Given the description of an element on the screen output the (x, y) to click on. 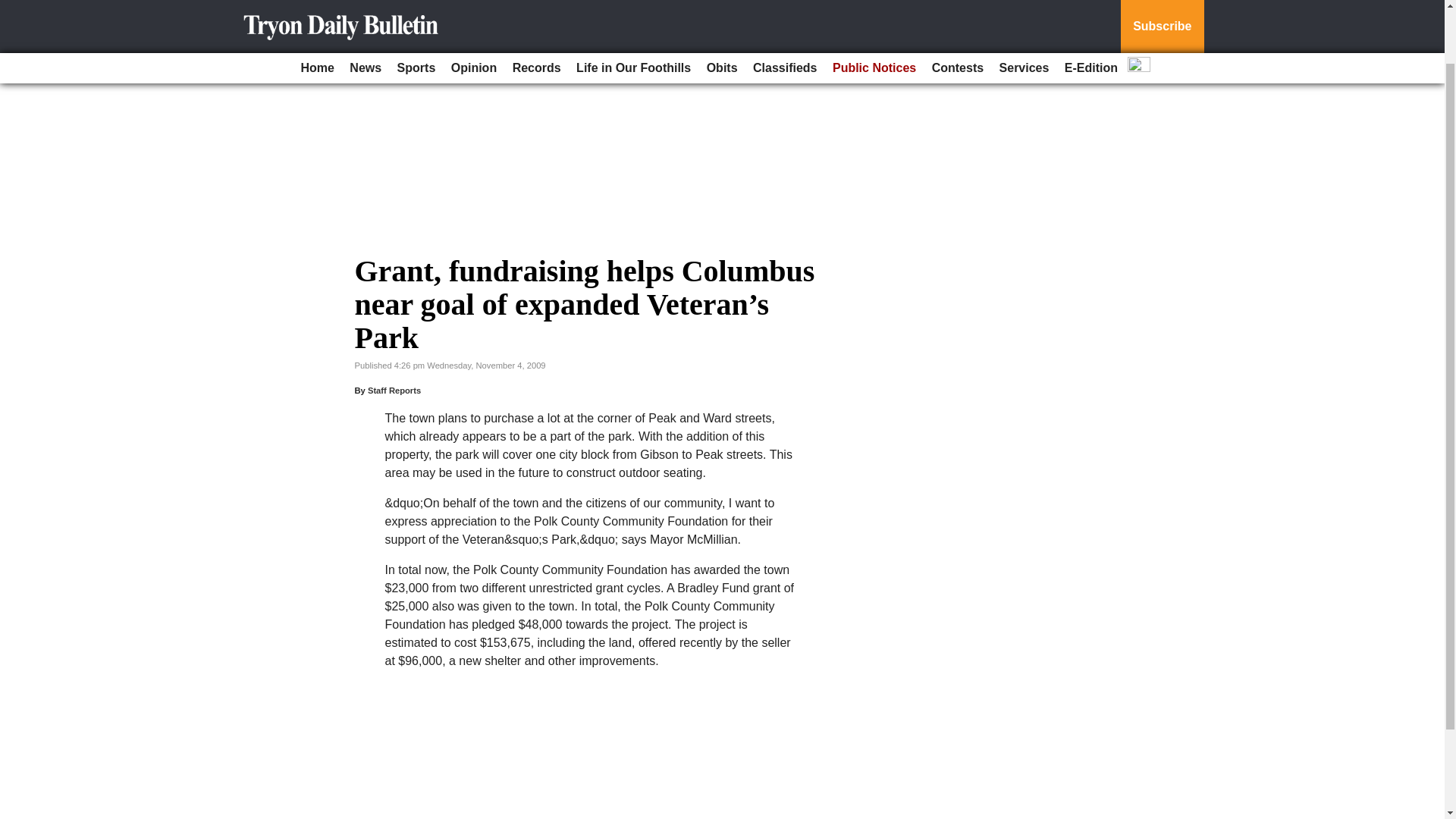
Public Notices (874, 9)
E-Edition (1091, 9)
Staff Reports (394, 389)
Obits (722, 9)
Sports (416, 9)
Services (1023, 9)
Contests (958, 9)
Records (536, 9)
News (365, 9)
Classifieds (784, 9)
Opinion (473, 9)
Life in Our Foothills (633, 9)
Home (316, 9)
